Given the description of an element on the screen output the (x, y) to click on. 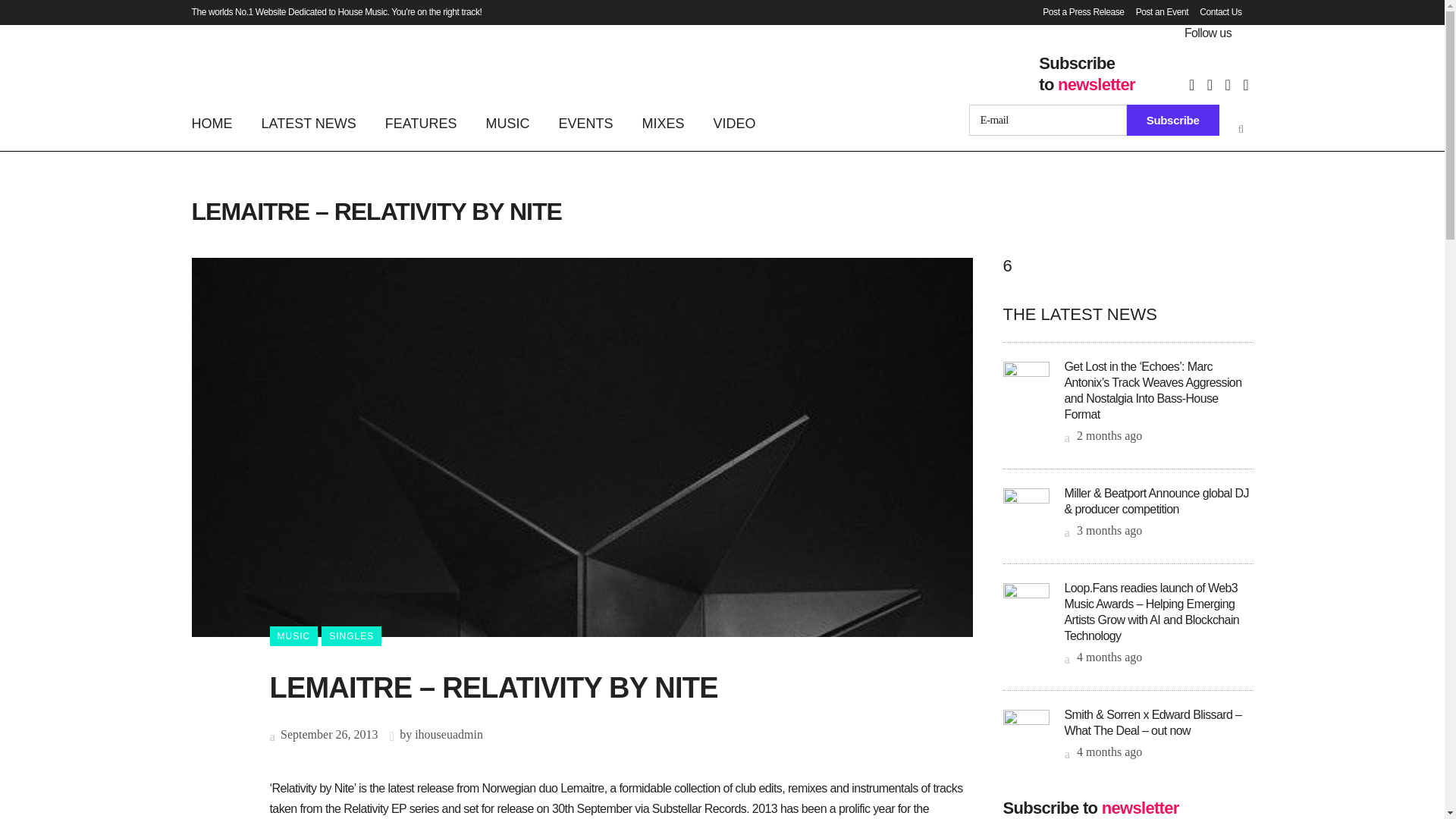
Contact Us (1214, 12)
Post an Event (1156, 12)
Subscribe (1173, 119)
FEATURES (421, 123)
Post a Press Release (1077, 12)
LATEST NEWS (309, 123)
E-mail (1047, 119)
HOME (218, 123)
